Given the description of an element on the screen output the (x, y) to click on. 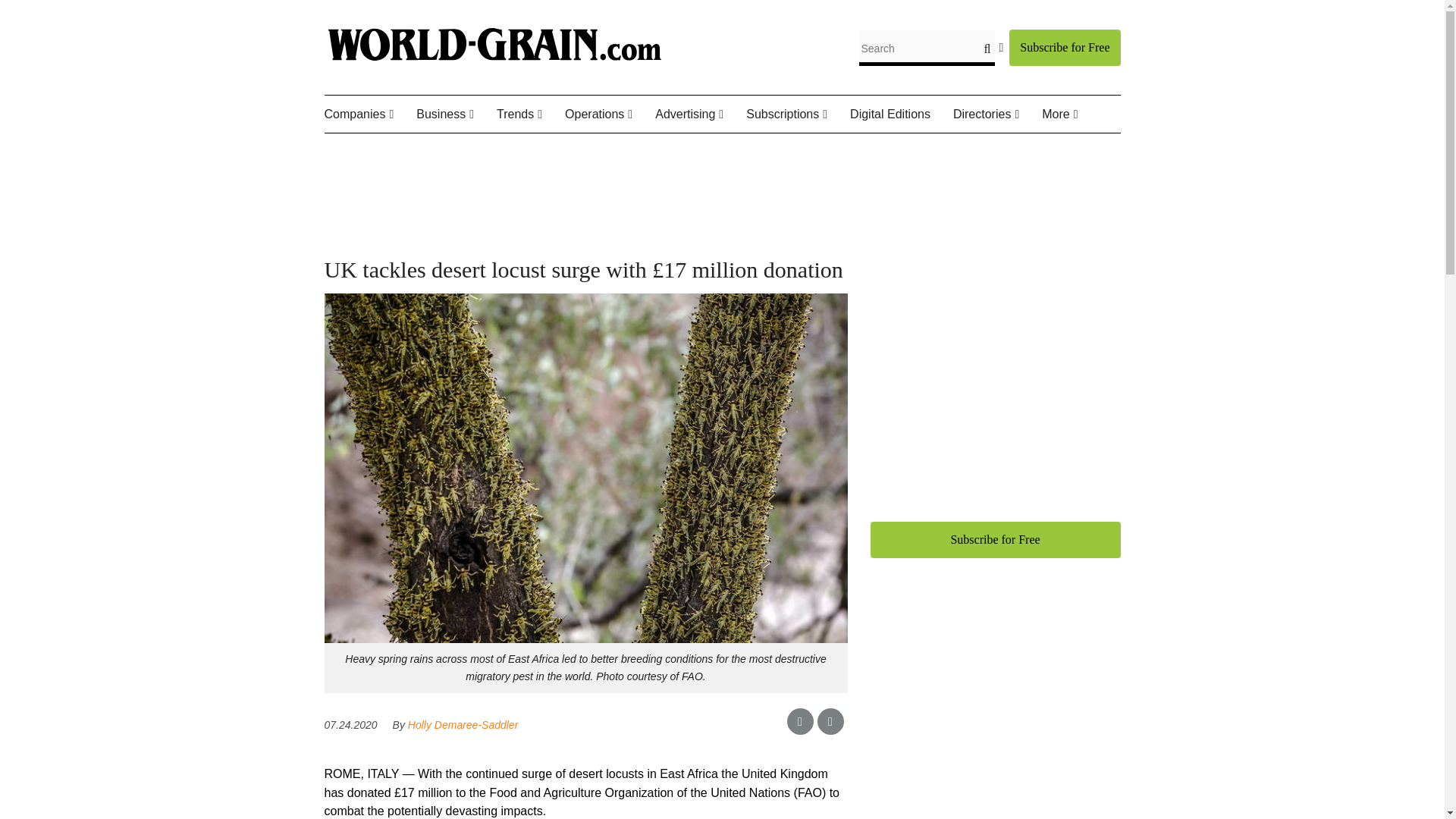
Legislation (586, 149)
Ukraine Conflict (606, 149)
Feed Milling Equipment (652, 160)
Mergers and Acquisitions (509, 160)
People (423, 149)
Business (456, 114)
Grain Companies (413, 149)
Milling Companies (419, 149)
Subscribe for Free (1064, 47)
Sustainability (596, 149)
Health and Wellness (579, 149)
Flour Milling Equipment (640, 160)
Biotechnology (571, 149)
Commodities (491, 149)
Trade (600, 149)
